Given the description of an element on the screen output the (x, y) to click on. 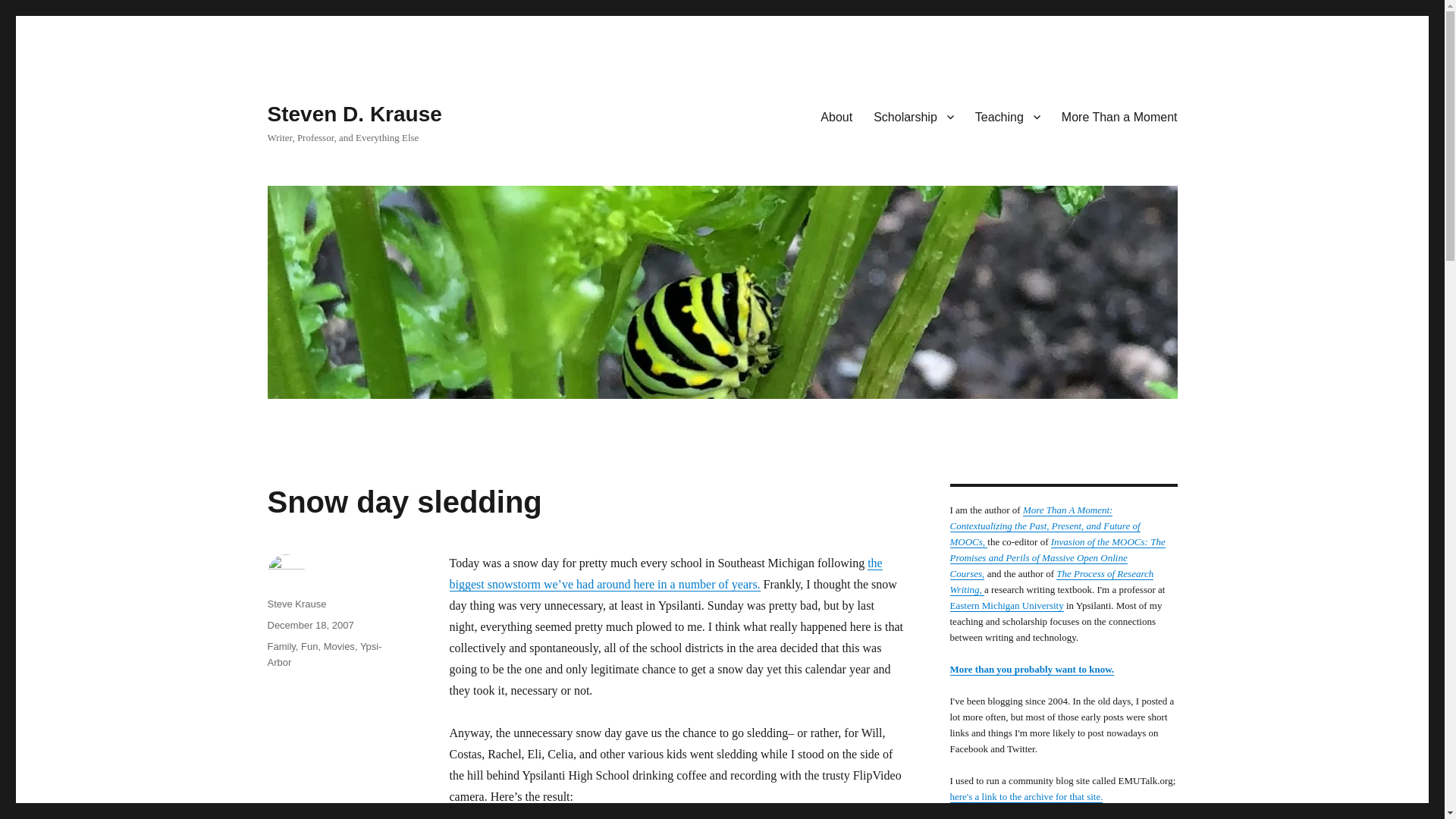
Fun (309, 645)
The Process of Research Writing, (1051, 581)
Eastern Michigan University (1005, 604)
Ypsi-Arbor (323, 654)
here's a link to the archive for that site. (1025, 796)
About (836, 116)
December 18, 2007 (309, 624)
Steven D. Krause (353, 114)
More than you probably want to know. (1031, 668)
Steve Krause (296, 603)
Movies (339, 645)
More Than a Moment (1119, 116)
Family (280, 645)
